Given the description of an element on the screen output the (x, y) to click on. 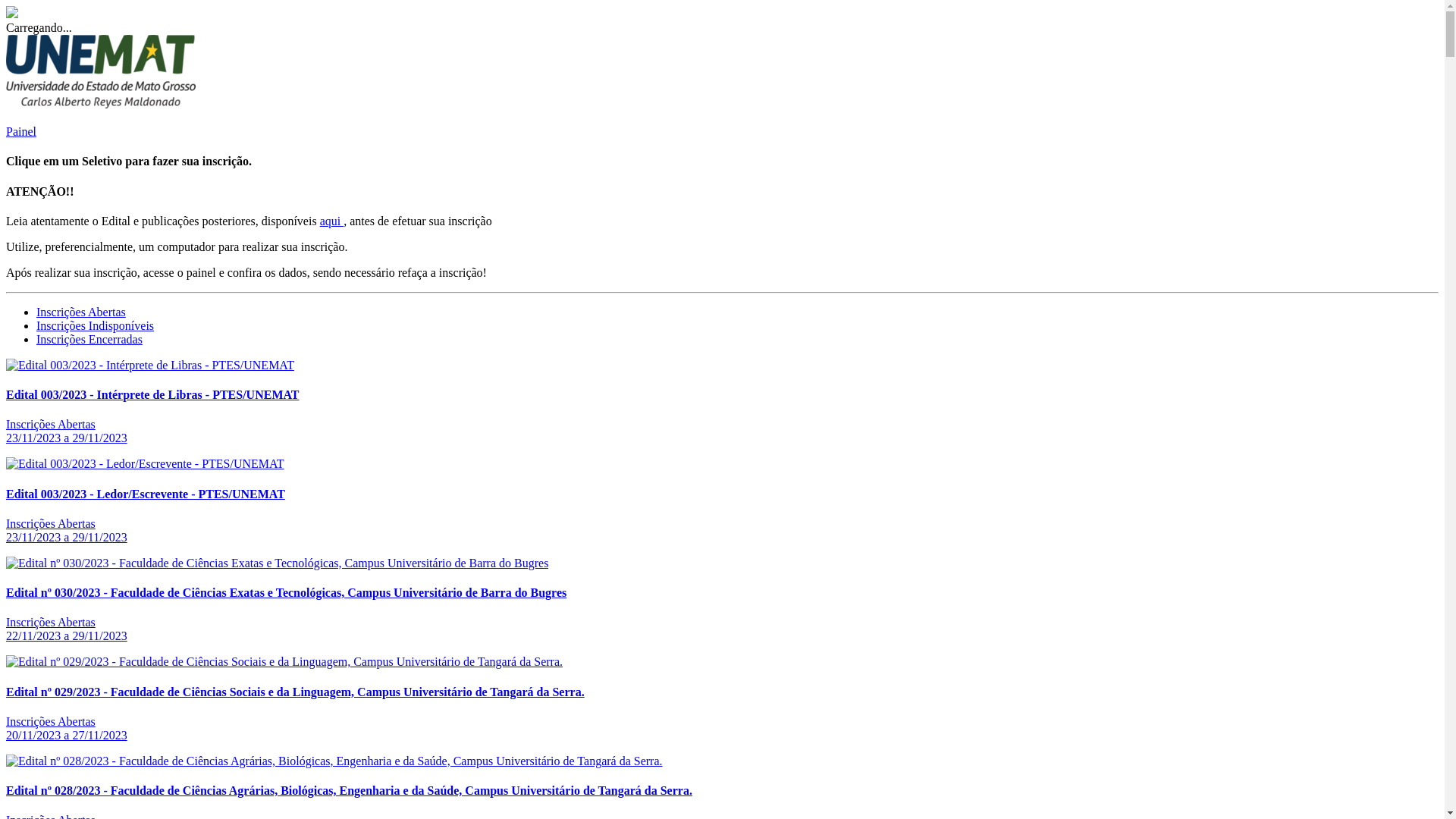
Painel Element type: text (21, 131)
aqui Element type: text (332, 220)
